Given the description of an element on the screen output the (x, y) to click on. 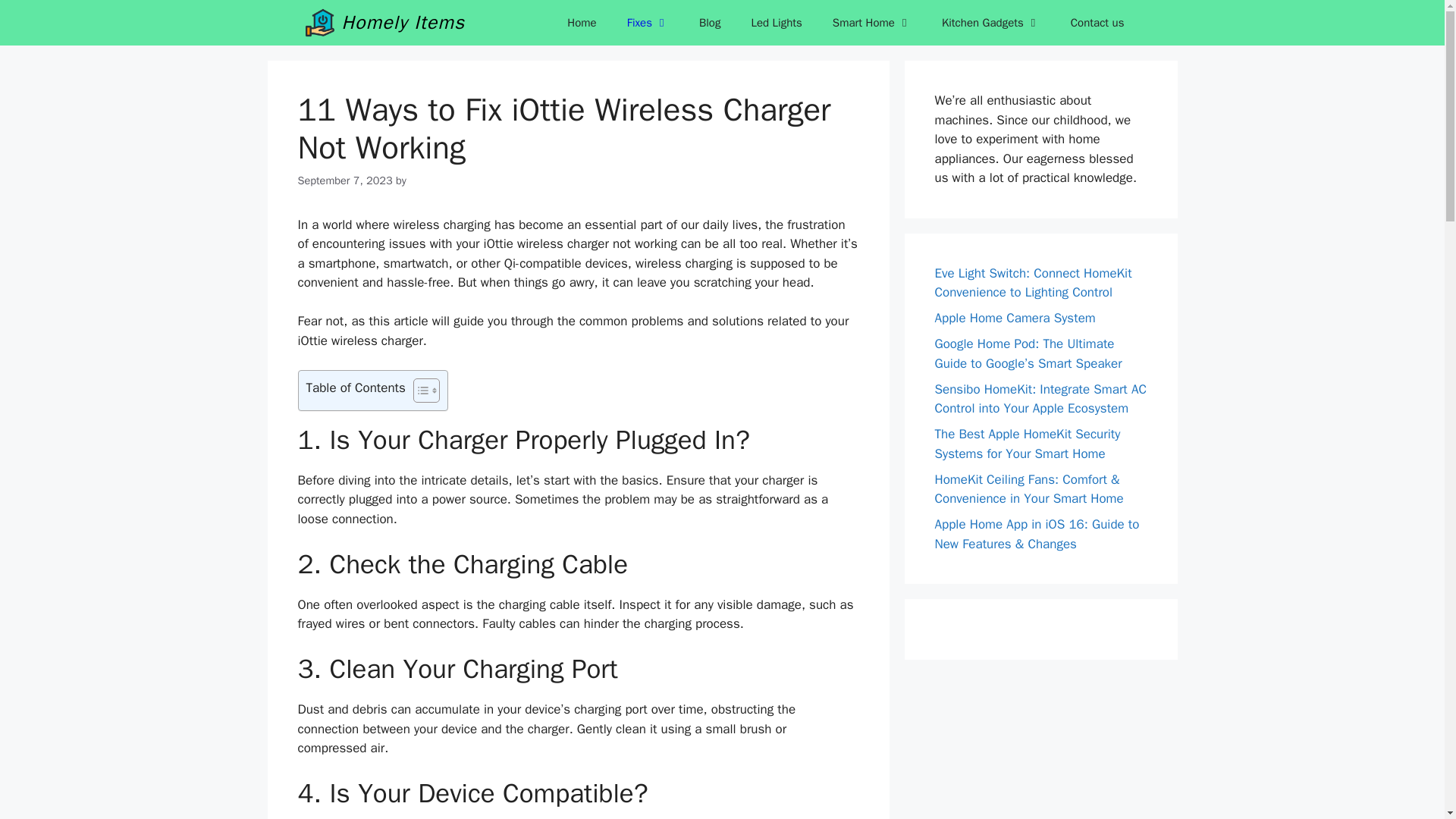
Led Lights (775, 22)
Smart Home (871, 22)
Fixes (647, 22)
Contact us (1097, 22)
Blog (709, 22)
Homely Items (402, 22)
Home (581, 22)
Kitchen Gadgets (990, 22)
